Given the description of an element on the screen output the (x, y) to click on. 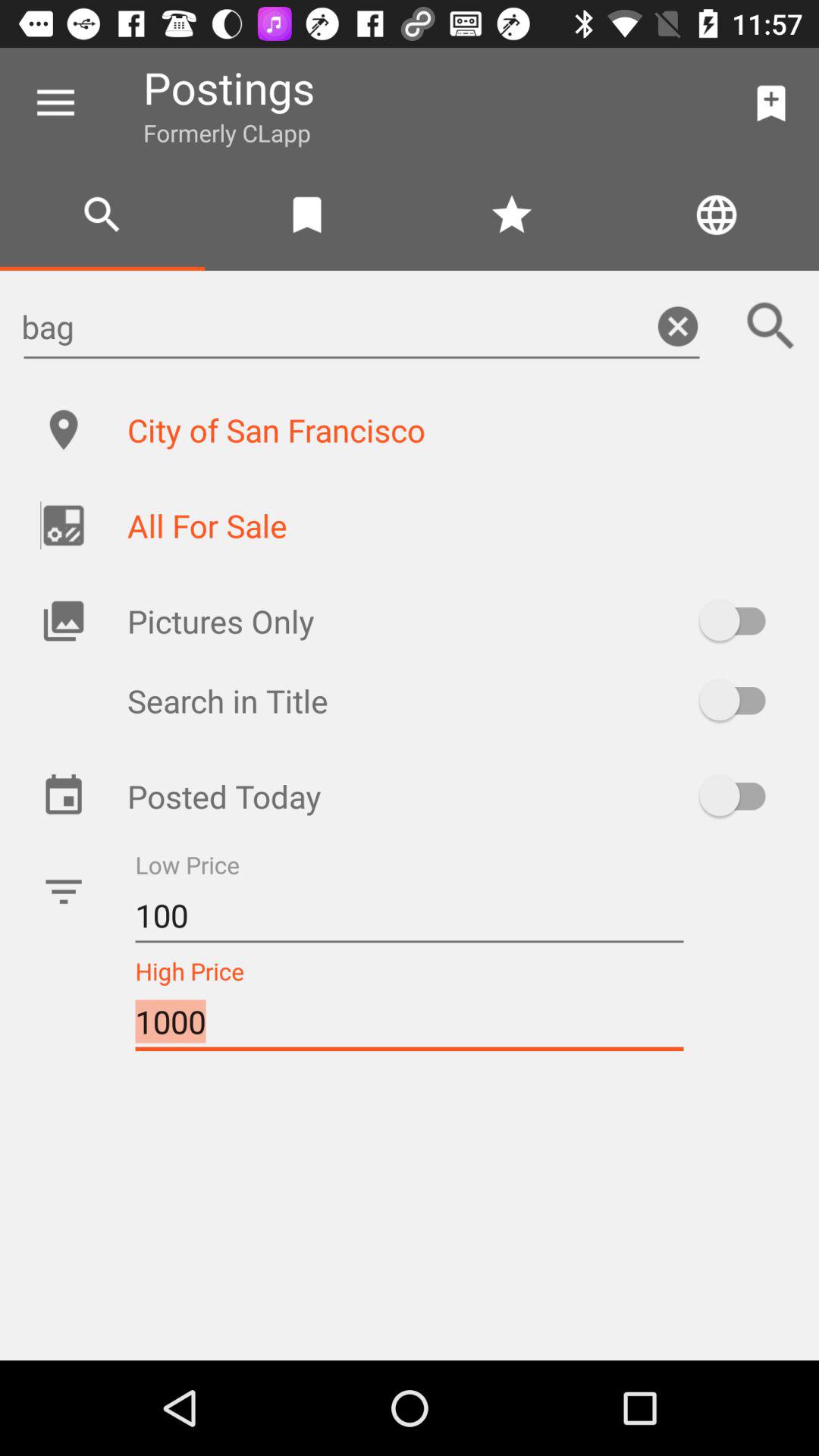
posted today option (739, 795)
